Given the description of an element on the screen output the (x, y) to click on. 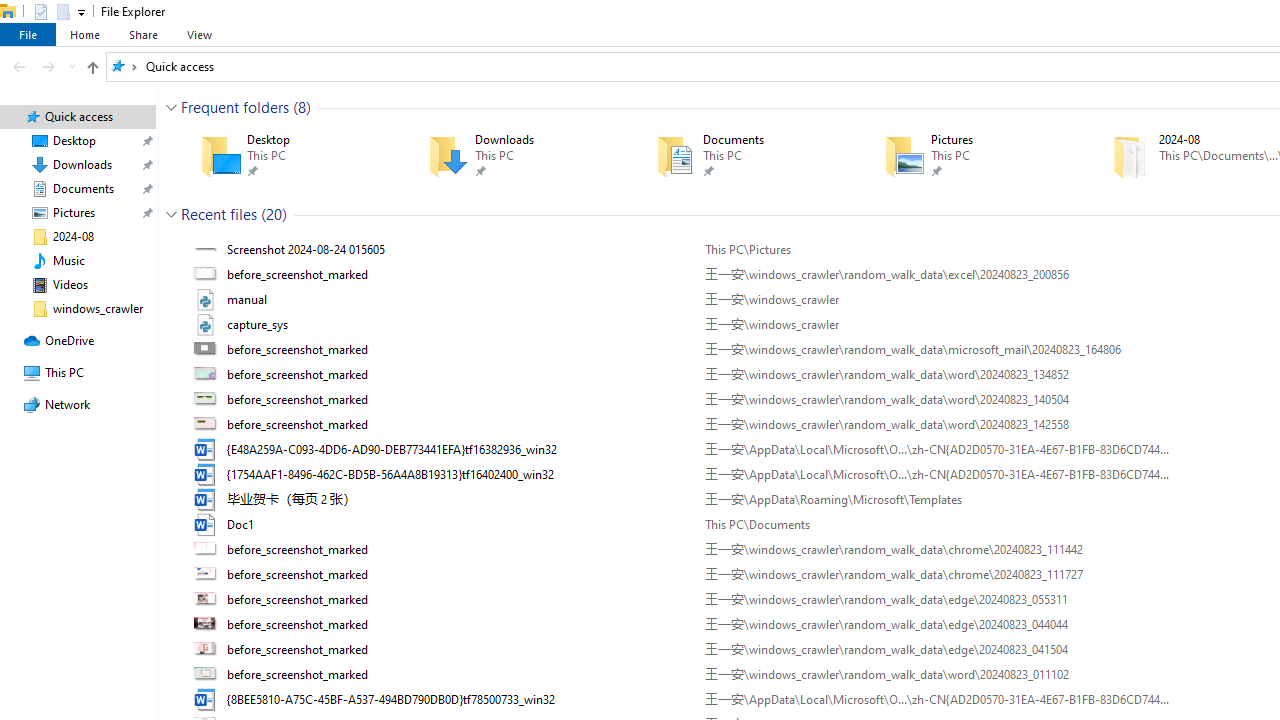
Back (Alt + Left Arrow) (18, 66)
File tab (28, 34)
Forward (Alt + Right Arrow) (49, 66)
Up to "Desktop" (Alt + Up Arrow) (92, 67)
System (10, 11)
Path (936, 699)
Recent locations (71, 66)
All locations (124, 65)
Quick Access Toolbar (51, 11)
Pictures (969, 156)
Navigation buttons (41, 66)
Documents (741, 156)
Desktop (286, 156)
Up band toolbar (92, 70)
Collapse Group (171, 213)
